Given the description of an element on the screen output the (x, y) to click on. 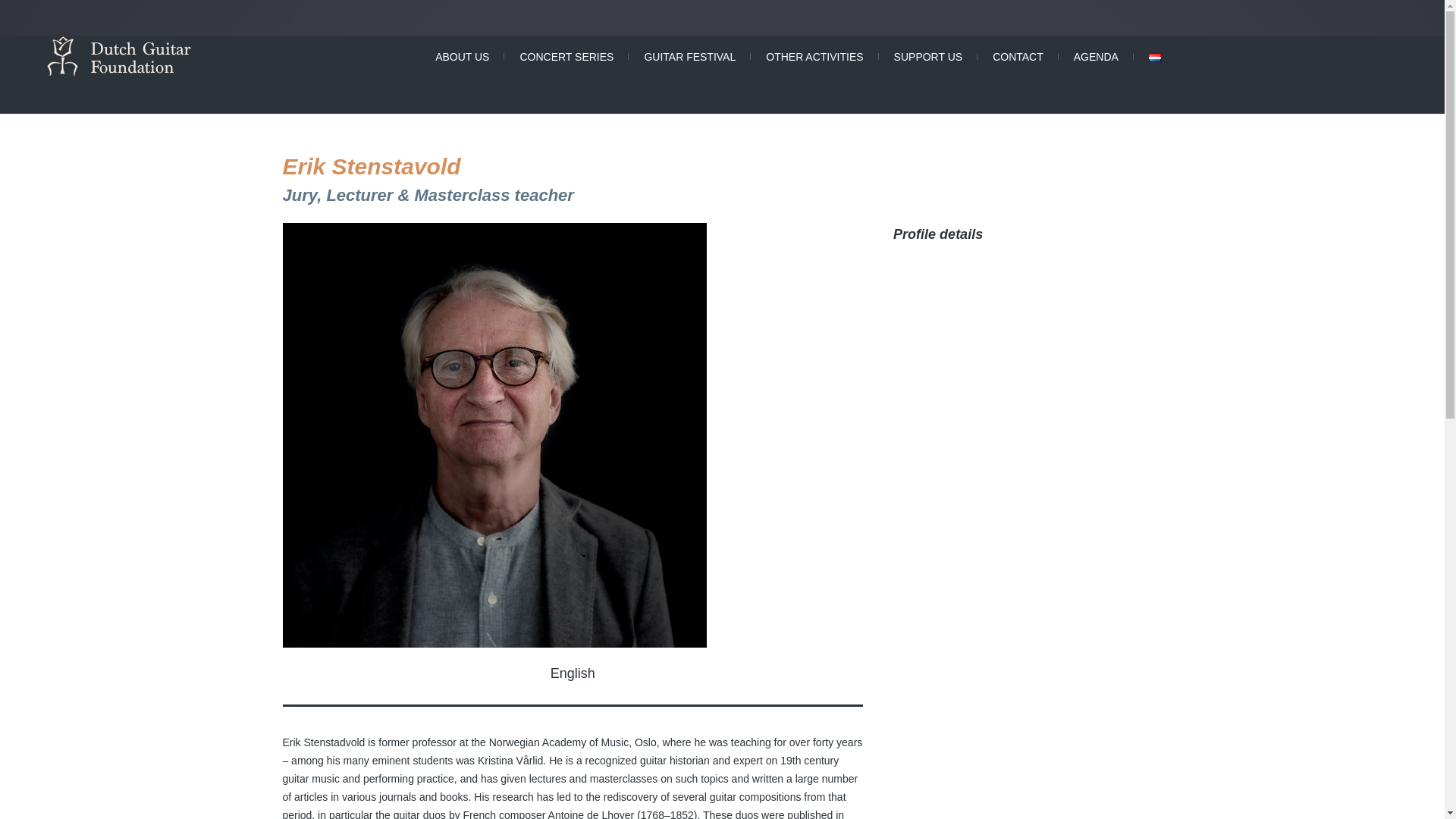
GUITAR FESTIVAL (689, 56)
Nederlands (1154, 58)
SUPPORT US (928, 56)
CONCERT SERIES (565, 56)
OTHER ACTIVITIES (814, 56)
ABOUT US (461, 56)
AGENDA (1096, 56)
CONTACT (1017, 56)
English (572, 676)
